Given the description of an element on the screen output the (x, y) to click on. 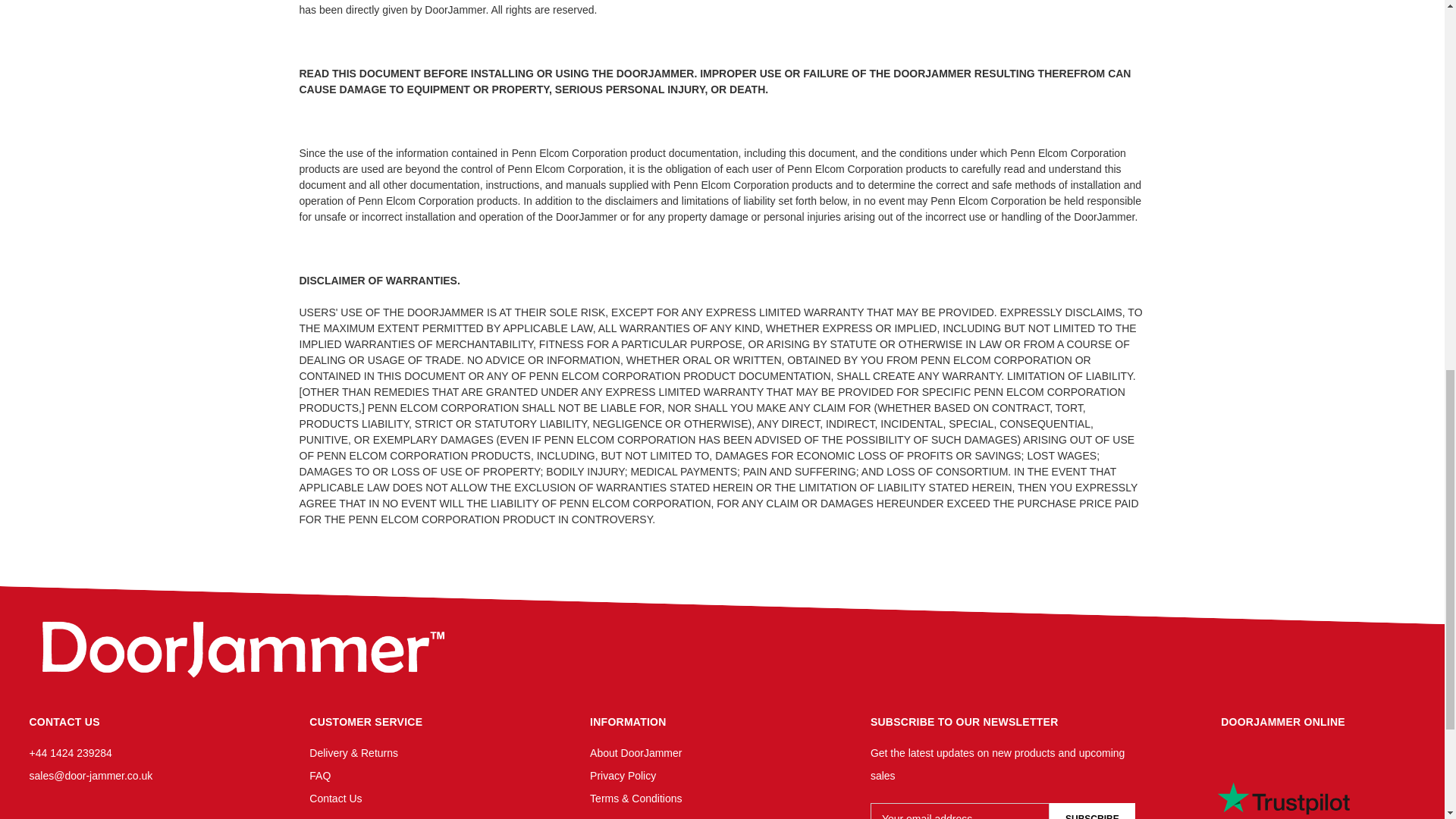
Privacy Policy (622, 775)
Customer reviews powered by Trustpilot (1283, 780)
Contact Us (334, 798)
Subscribe (1092, 811)
Subscribe (1092, 811)
FAQ (319, 775)
About DoorJammer (635, 752)
